Given the description of an element on the screen output the (x, y) to click on. 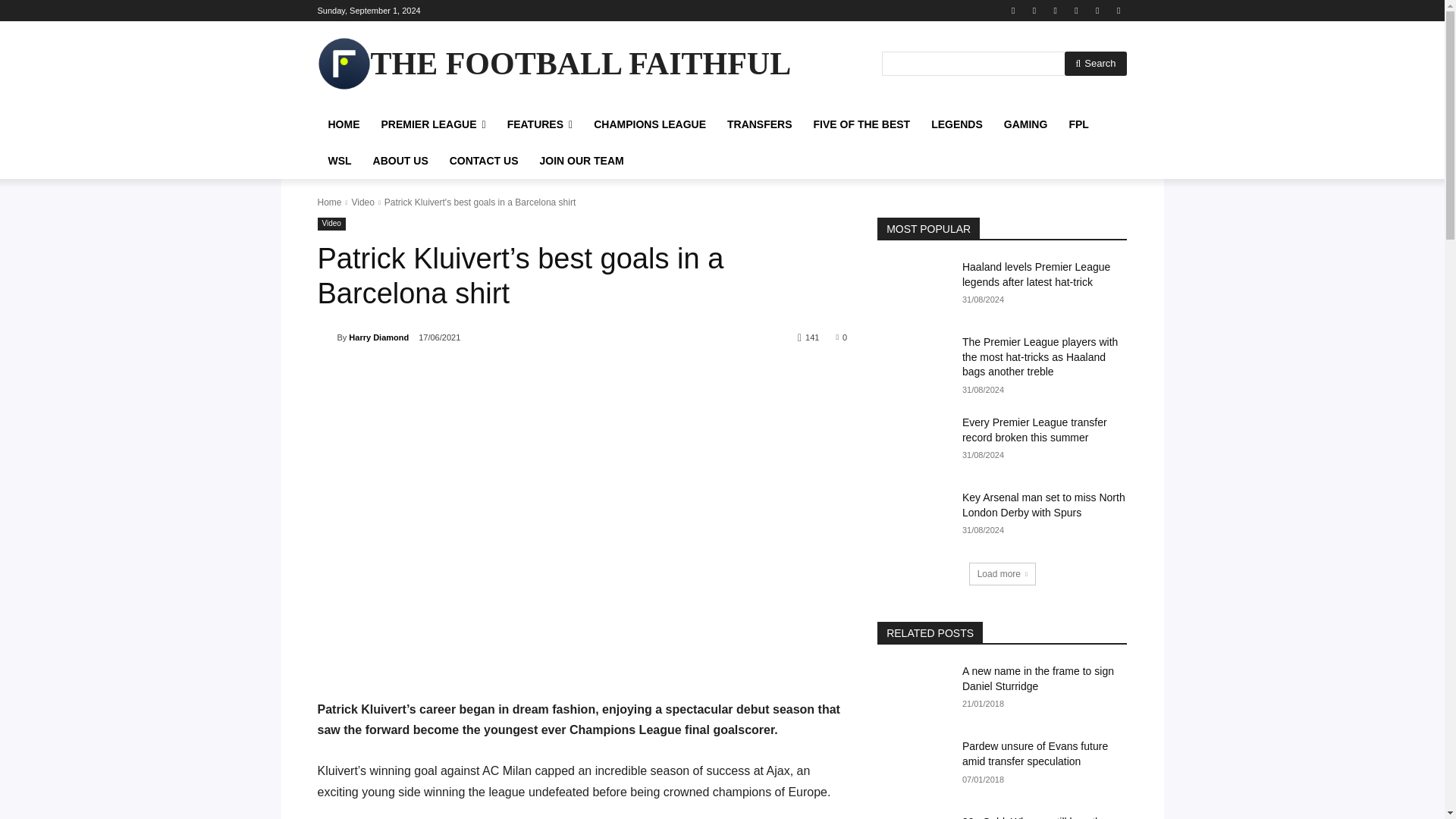
TikTok (1075, 9)
Twitter (1097, 9)
Instagram (1034, 9)
RSS (1055, 9)
Facebook (1013, 9)
Youtube (1117, 9)
